Given the description of an element on the screen output the (x, y) to click on. 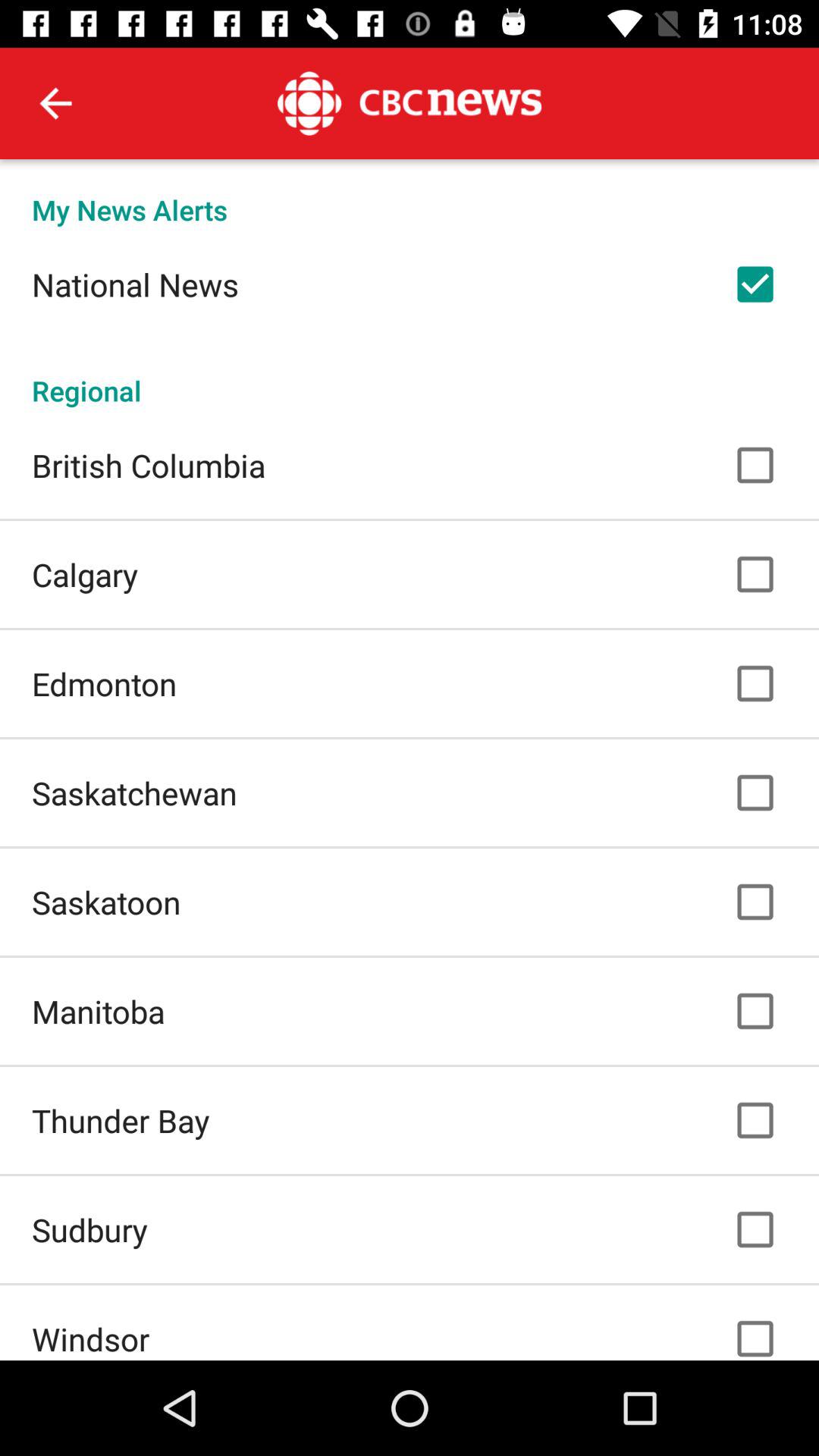
tap icon above the windsor (89, 1229)
